Given the description of an element on the screen output the (x, y) to click on. 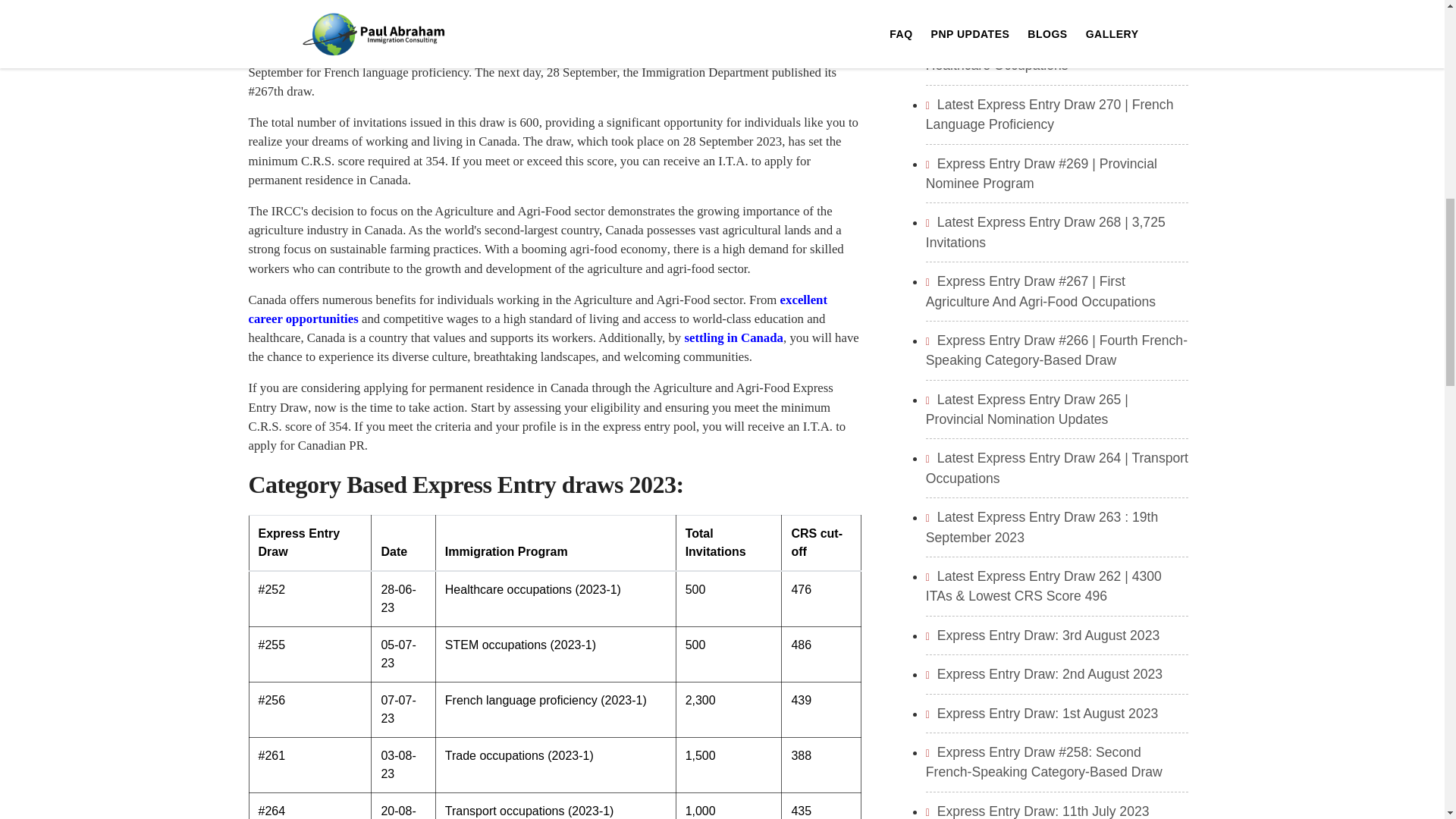
Express Entry Draw 266 (724, 52)
Life in Canada (538, 308)
new life in Canada (733, 337)
excellent career opportunities (538, 308)
settling in Canada (733, 337)
